Given the description of an element on the screen output the (x, y) to click on. 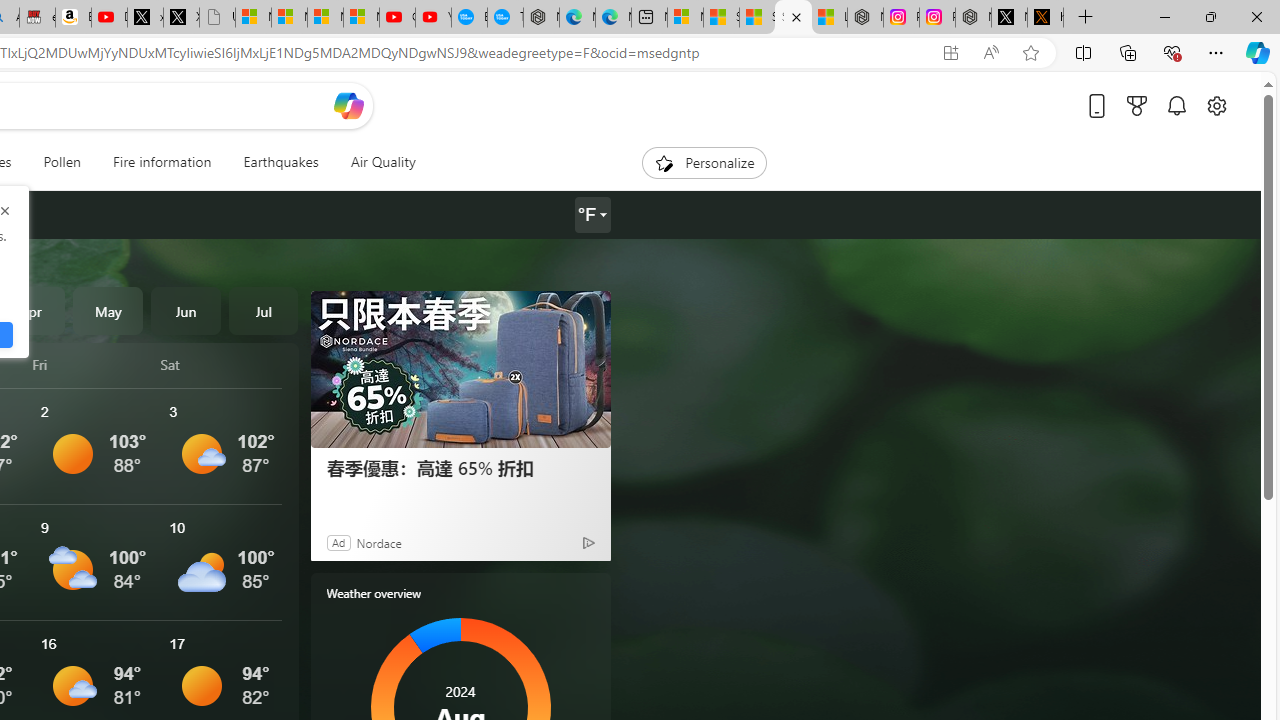
Open settings (1216, 105)
Earthquakes (280, 162)
Nordace (@NordaceOfficial) / X (1009, 17)
